Given the description of an element on the screen output the (x, y) to click on. 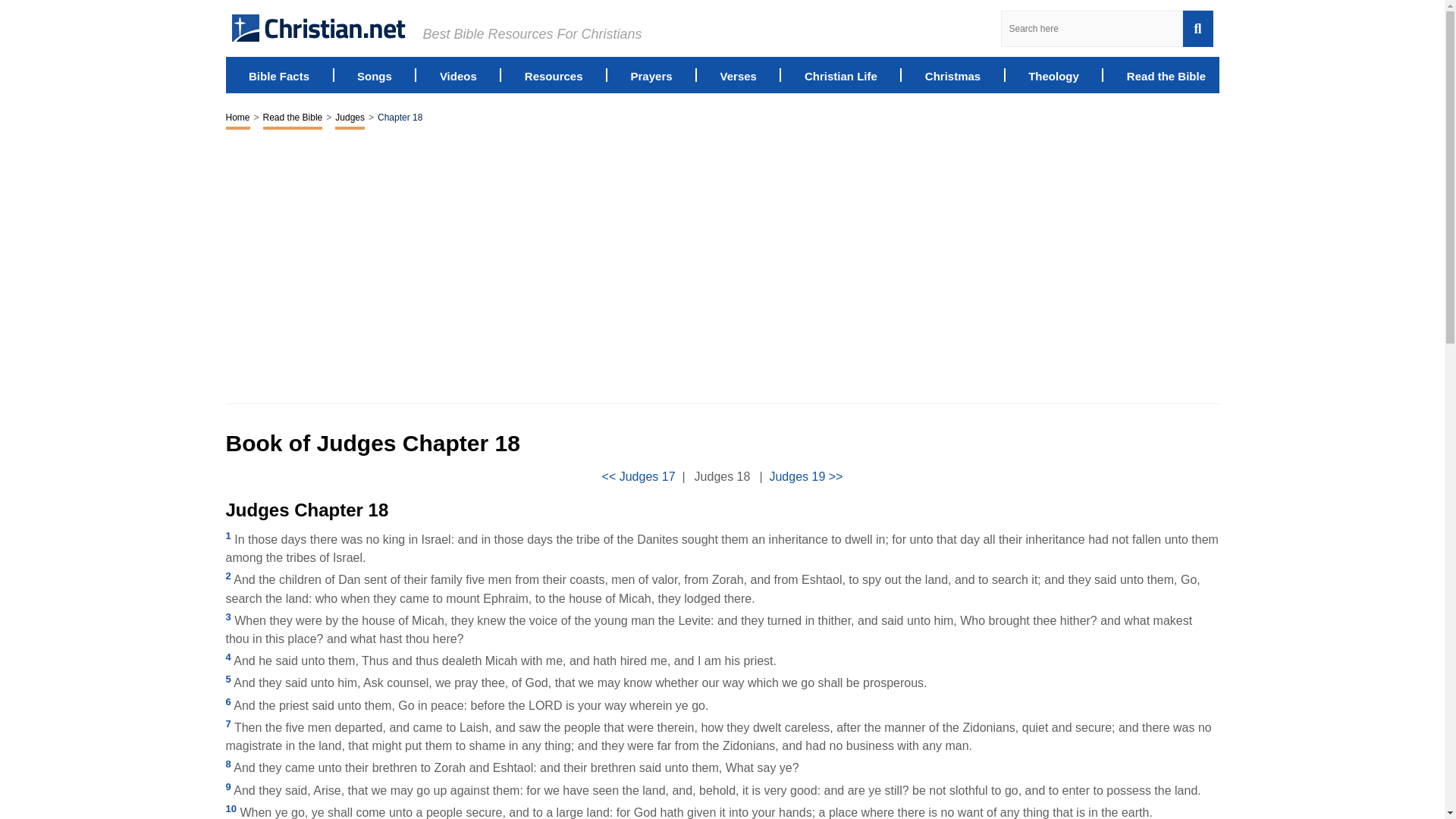
Judges (349, 118)
Home (237, 118)
Read the Bible (1165, 74)
Songs (373, 74)
Videos (458, 74)
Christian Life (841, 74)
Judges Chapter 19 (805, 476)
Read the Bible (293, 118)
Judges Chapter 17 (638, 476)
Bible Facts (278, 74)
Christmas (951, 74)
Prayers (651, 74)
Verses (738, 74)
Theology (1052, 74)
Resources (553, 74)
